Given the description of an element on the screen output the (x, y) to click on. 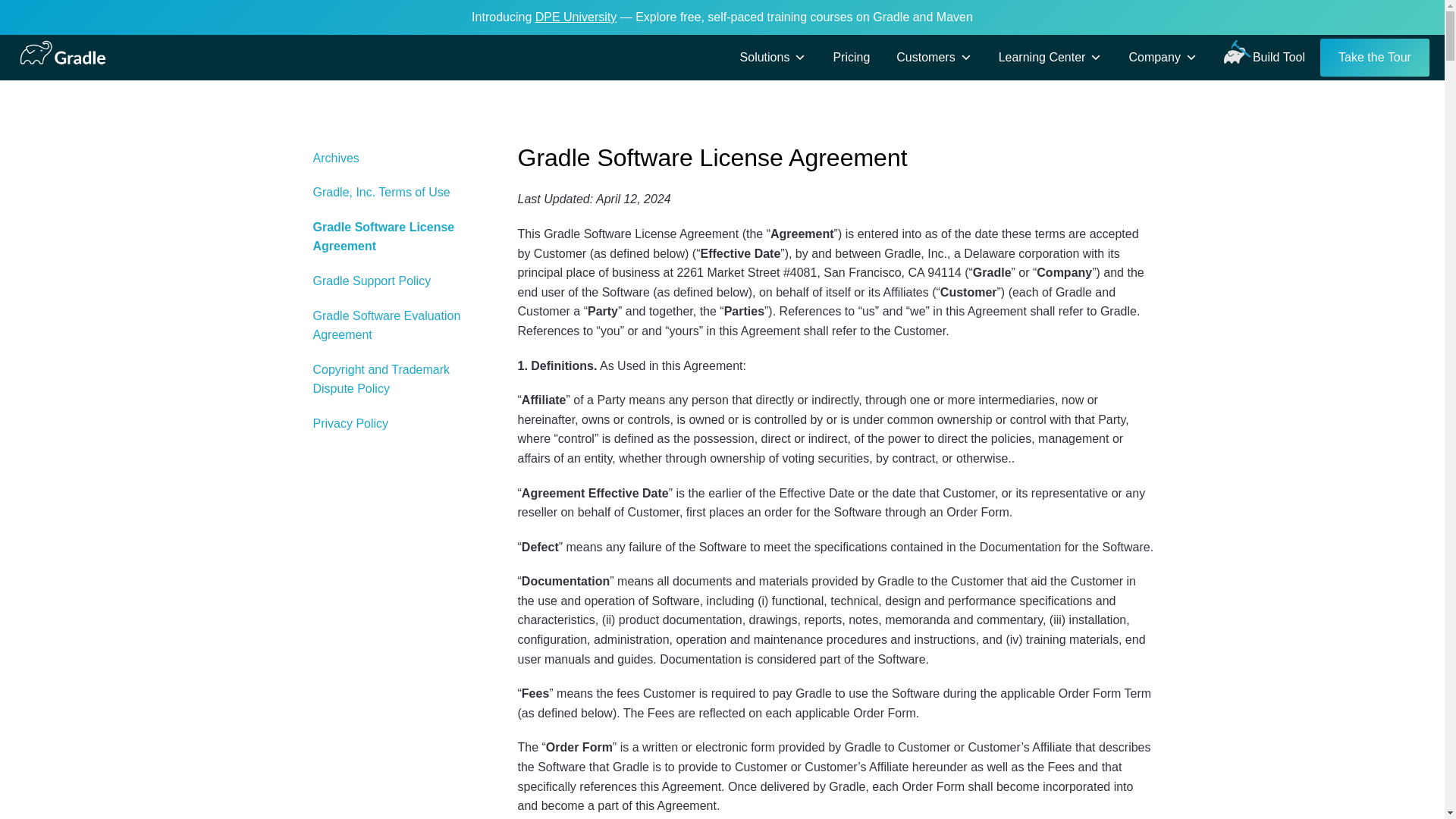
Solutions (773, 57)
Pricing (850, 57)
Learning Center (1050, 57)
Customers (933, 57)
DPE University (576, 16)
